Given the description of an element on the screen output the (x, y) to click on. 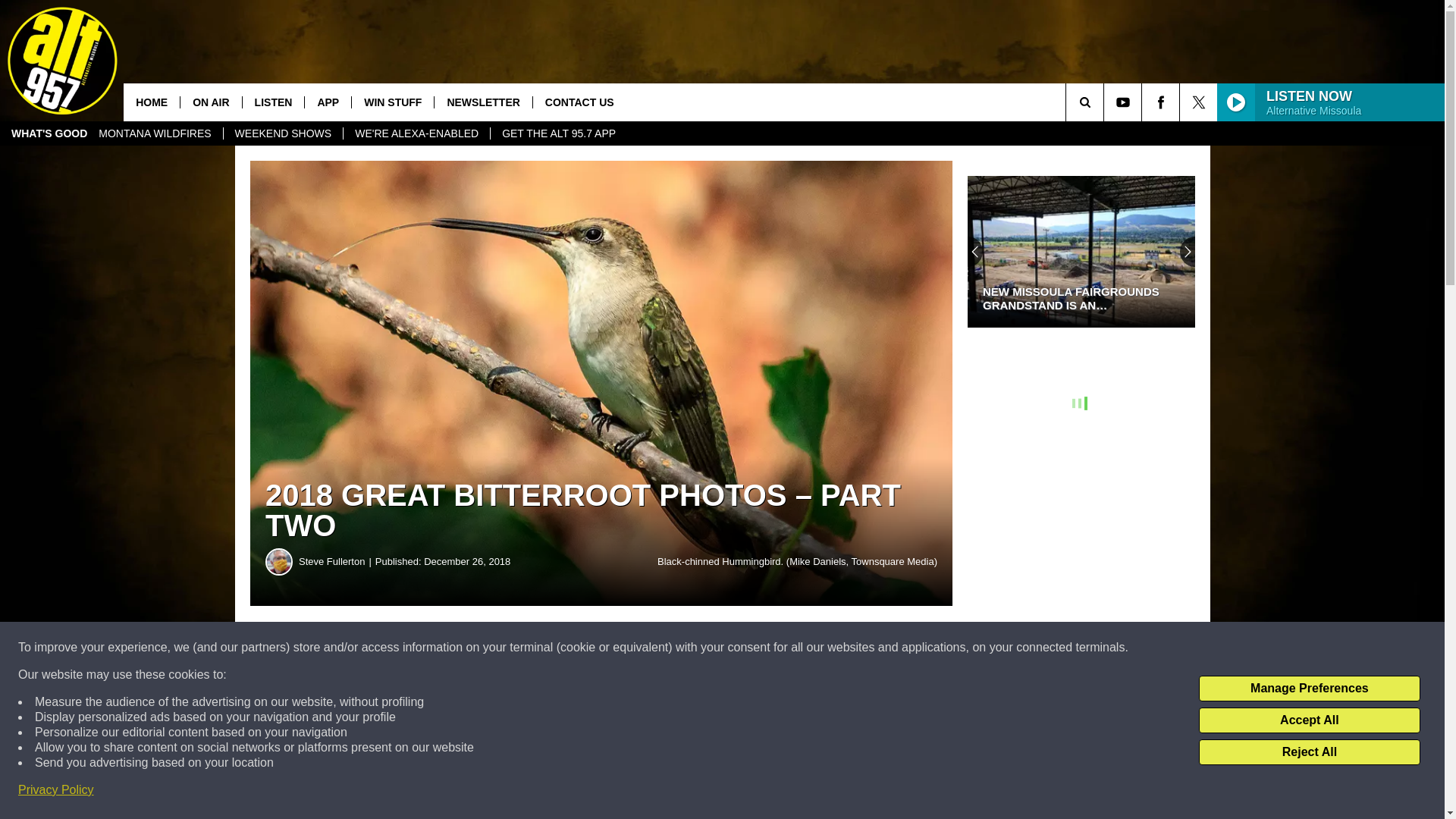
Privacy Policy (55, 789)
APP (327, 102)
Manage Preferences (1309, 688)
Share on Twitter (741, 647)
MONTANA WILDFIRES (154, 133)
Reject All (1309, 751)
WIN STUFF (391, 102)
HOME (151, 102)
CONTACT US (579, 102)
Share on Facebook (460, 647)
WEEKEND SHOWS (282, 133)
GET THE ALT 95.7 APP (558, 133)
LISTEN (272, 102)
WE'RE ALEXA-ENABLED (415, 133)
NEWSLETTER (482, 102)
